Given the description of an element on the screen output the (x, y) to click on. 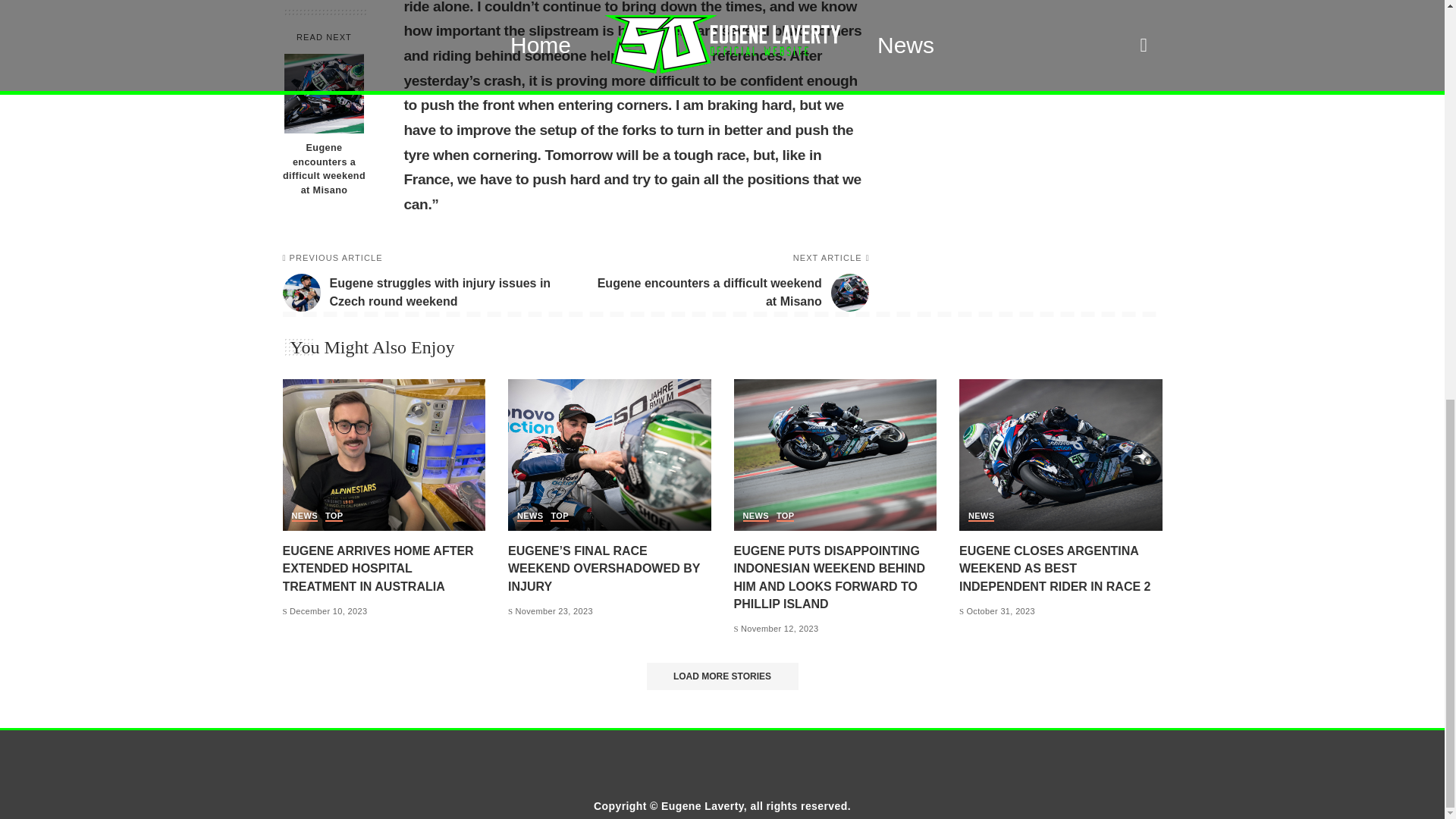
TOP (730, 282)
TOP (784, 516)
NEWS (558, 516)
NEWS (755, 516)
TOP (304, 516)
NEWS (333, 516)
